Given the description of an element on the screen output the (x, y) to click on. 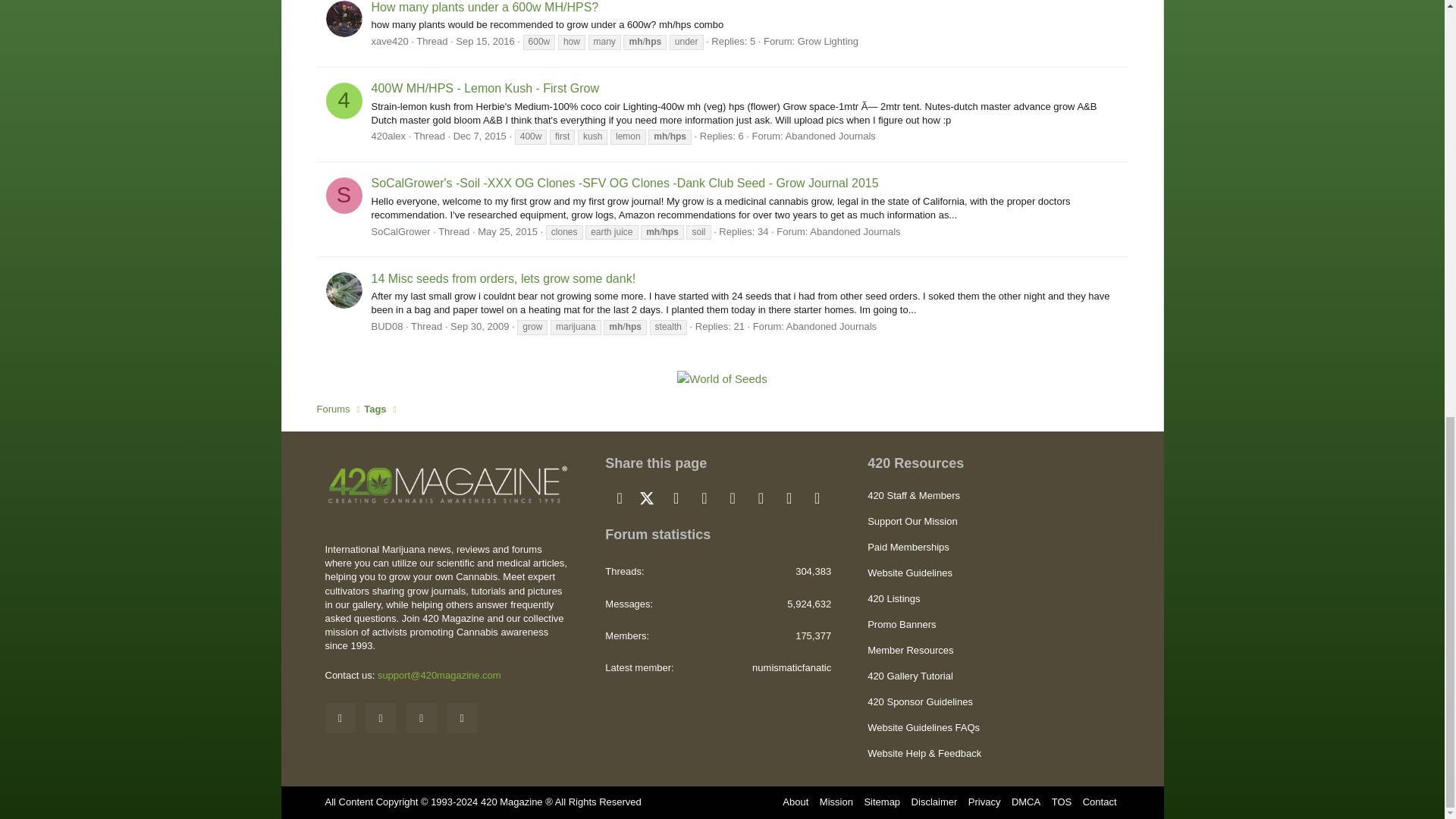
420 Magazine - Medical Marijuana News (446, 483)
May 25, 2015 at 9:37 AM (507, 231)
World of Seeds (722, 378)
Dec 7, 2015 at 5:37 AM (479, 135)
Sep 15, 2016 at 2:42 PM (484, 41)
Sep 30, 2009 at 7:26 PM (478, 326)
